Given the description of an element on the screen output the (x, y) to click on. 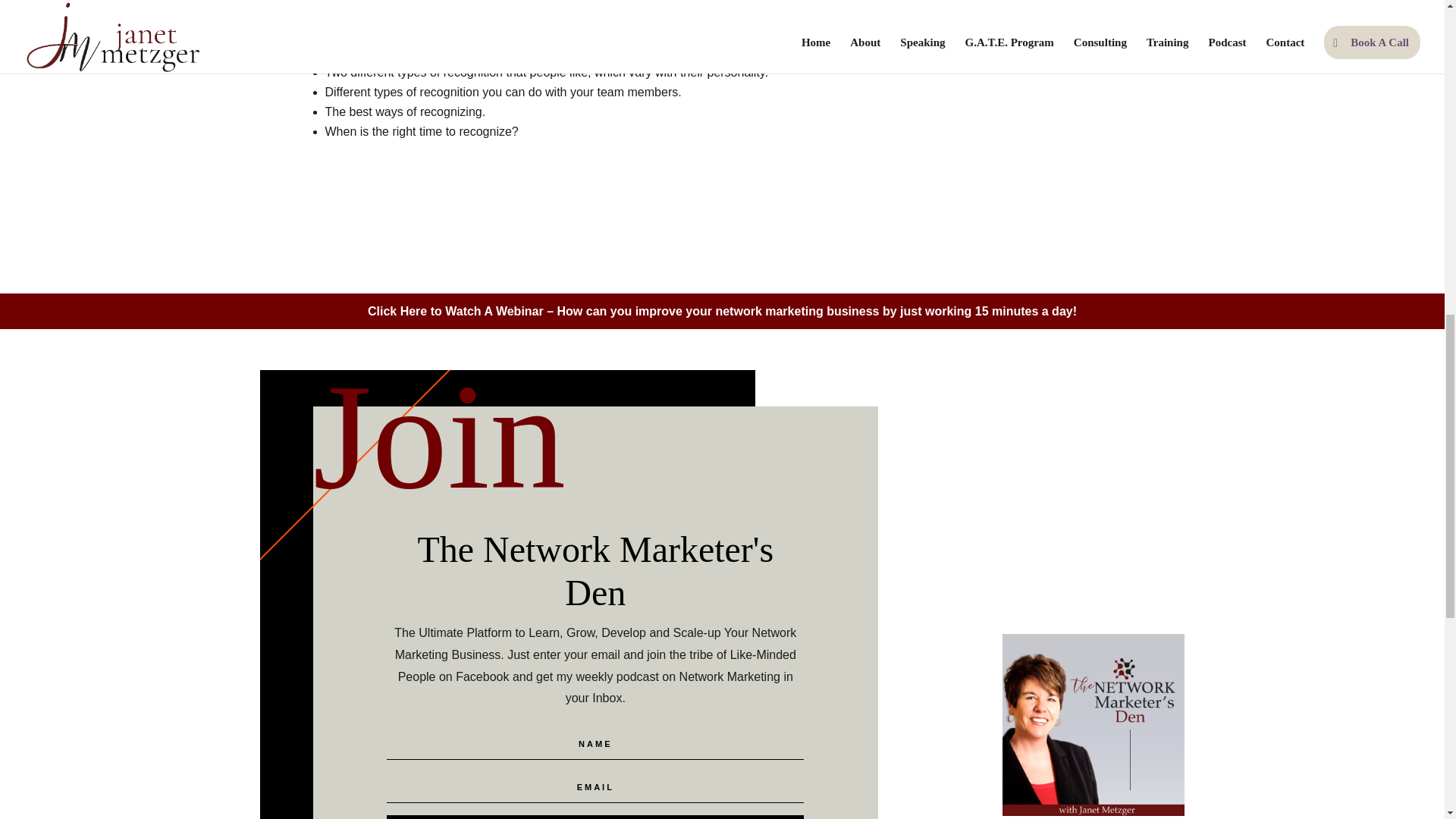
Podcast Cover (1094, 724)
